Given the description of an element on the screen output the (x, y) to click on. 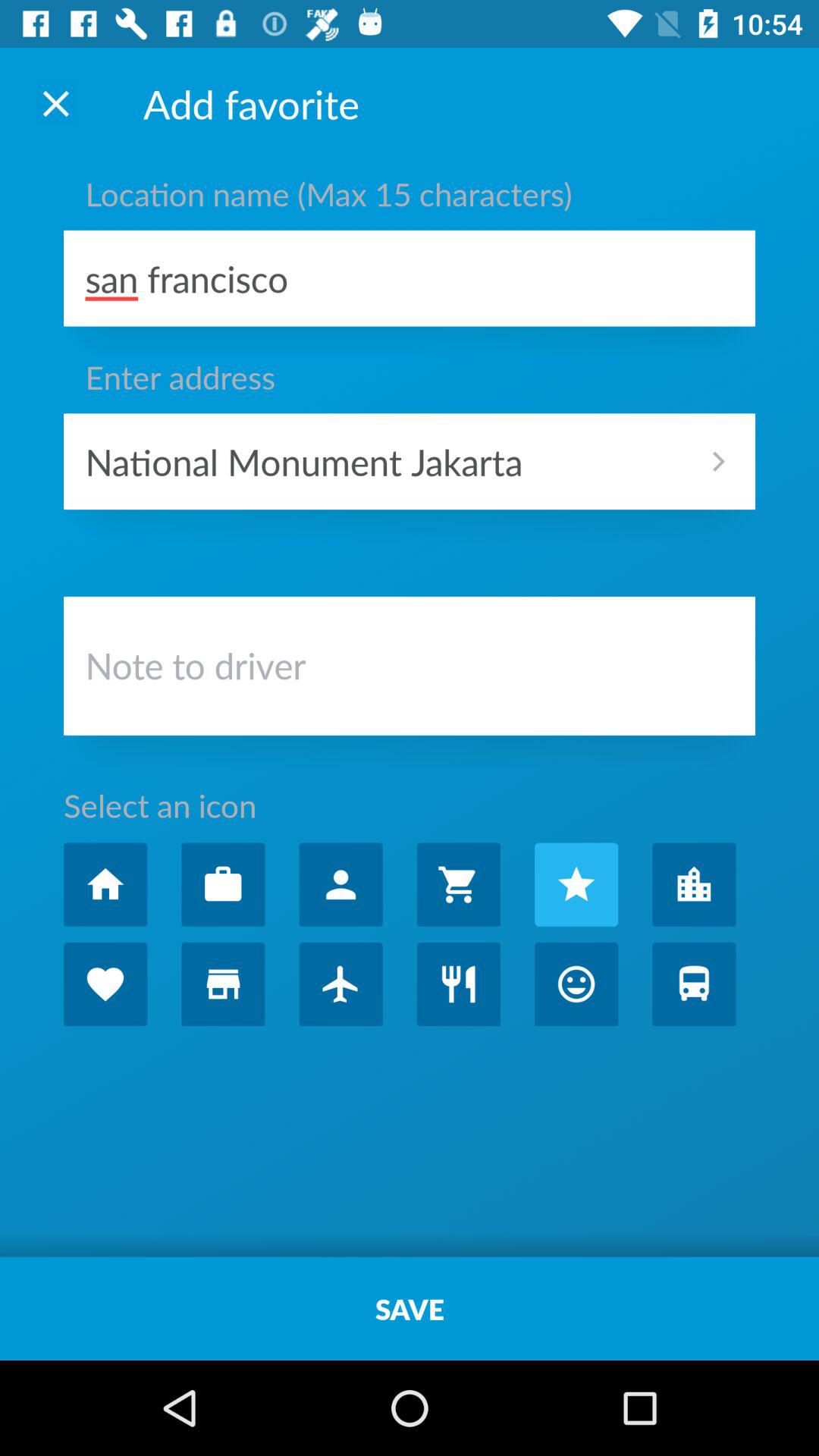
select icon for favorite (693, 984)
